Given the description of an element on the screen output the (x, y) to click on. 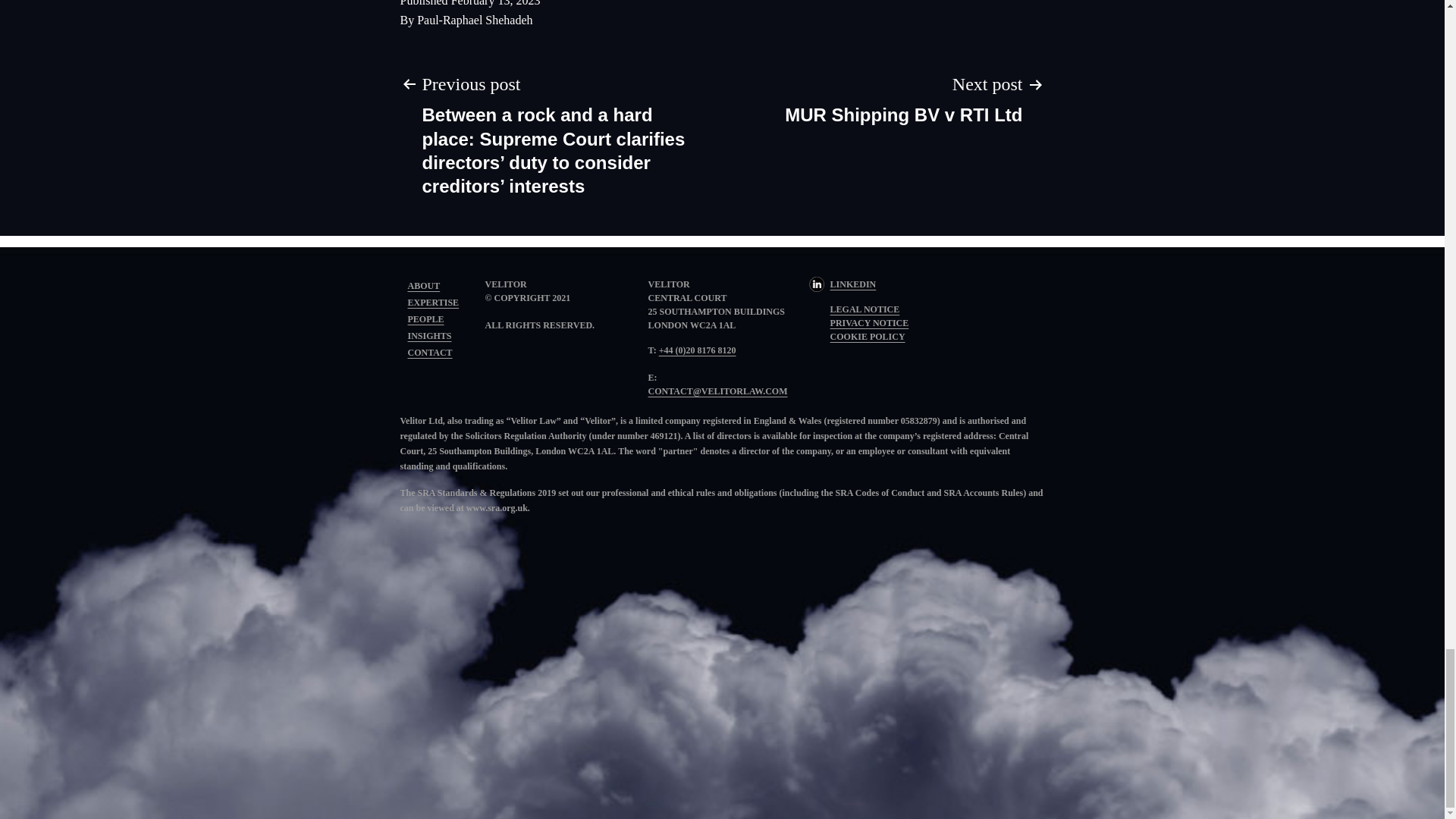
COOKIE POLICY (867, 336)
CONTACT (429, 352)
LEGAL NOTICE (864, 308)
PEOPLE (425, 318)
LINKEDIN (843, 284)
ABOUT (424, 285)
INSIGHTS (429, 335)
PRIVACY NOTICE (868, 322)
EXPERTISE (433, 302)
